Given the description of an element on the screen output the (x, y) to click on. 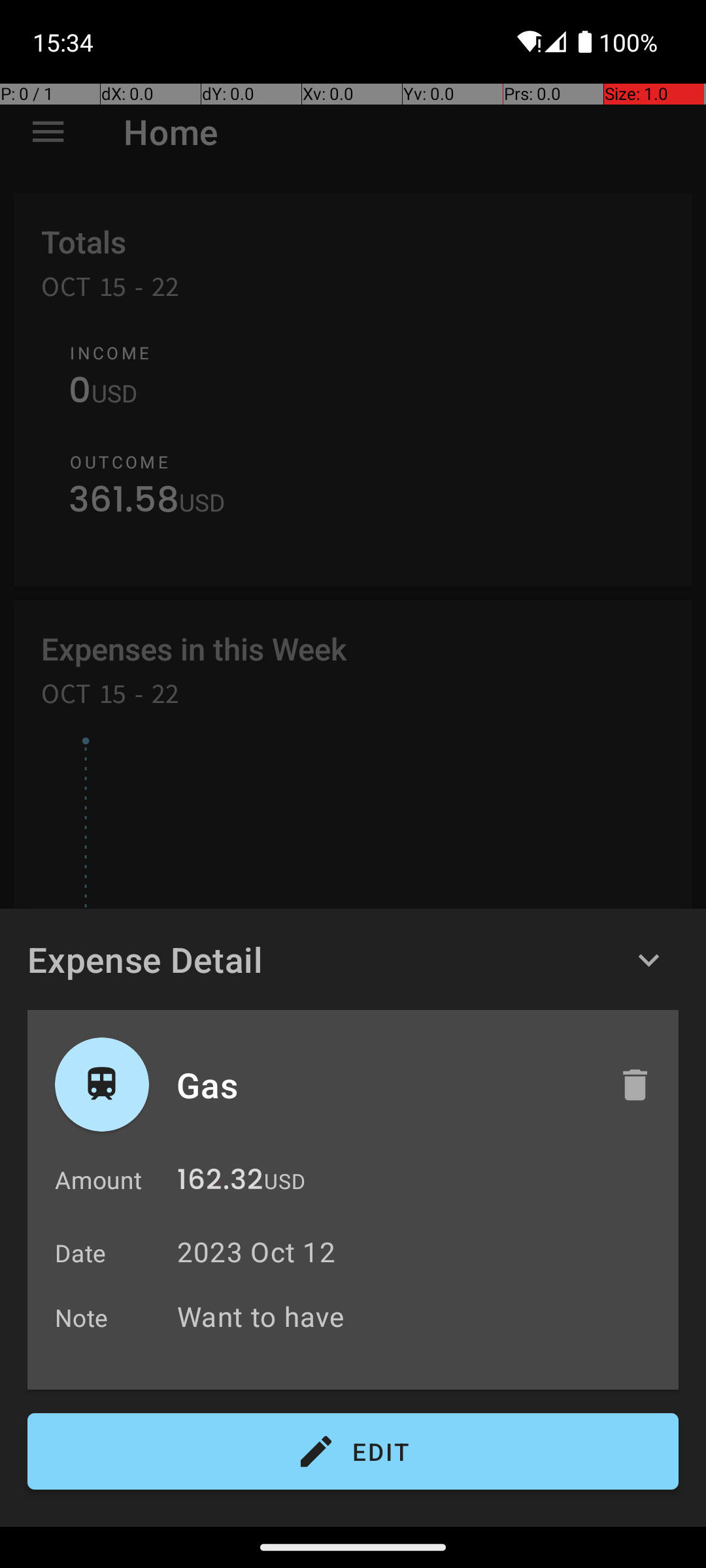
Gas Element type: android.widget.TextView (383, 1084)
162.32 Element type: android.widget.TextView (219, 1182)
